Given the description of an element on the screen output the (x, y) to click on. 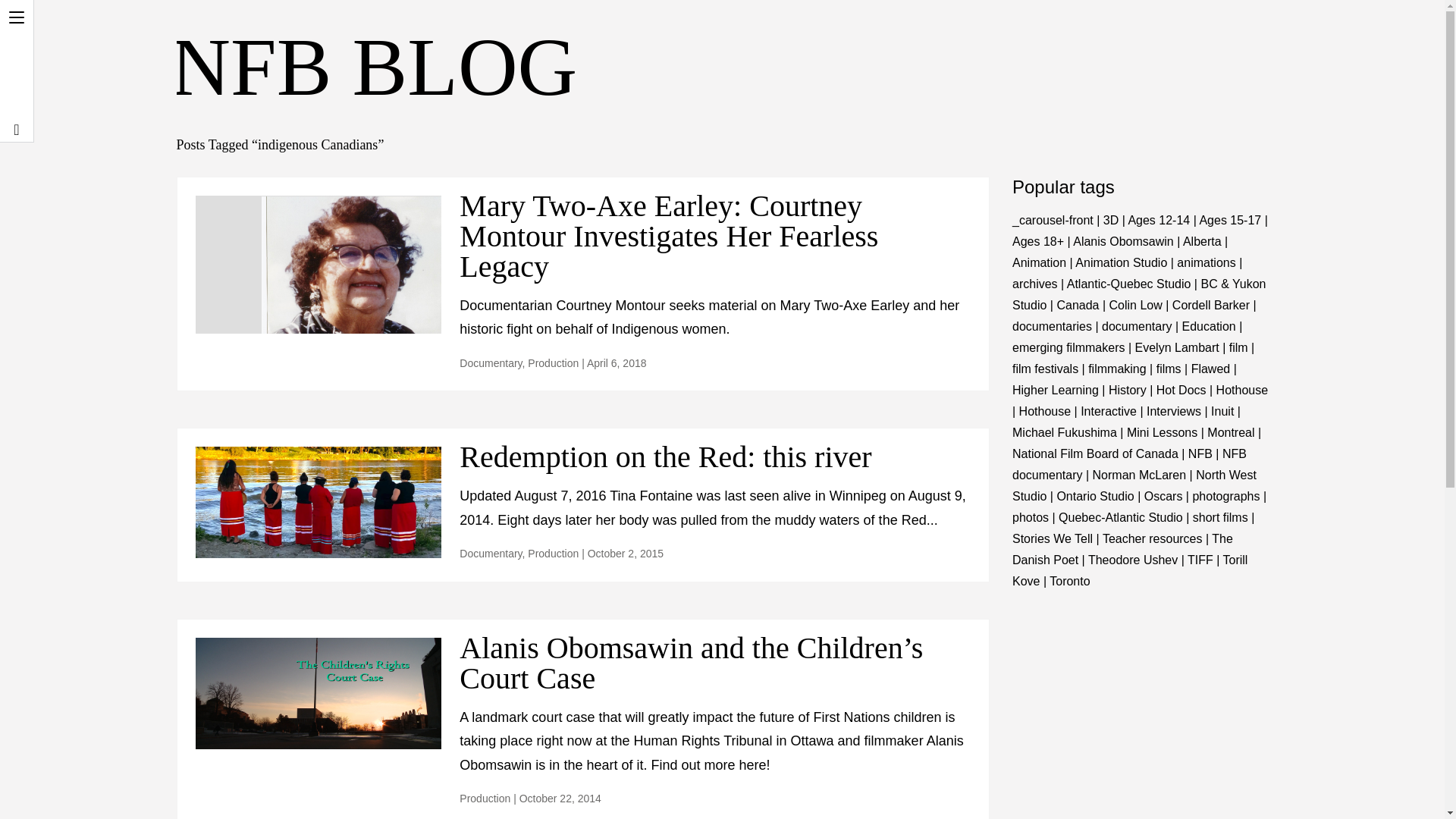
Ages 15-17 (1229, 219)
Animation (1038, 262)
Ages 12-14 (1157, 219)
Visit NFB.ca (16, 45)
animations (1205, 262)
Atlantic-Quebec Studio (1129, 283)
Alberta (1201, 241)
3D (1110, 219)
archives (1034, 283)
Animation Studio (1121, 262)
